Given the description of an element on the screen output the (x, y) to click on. 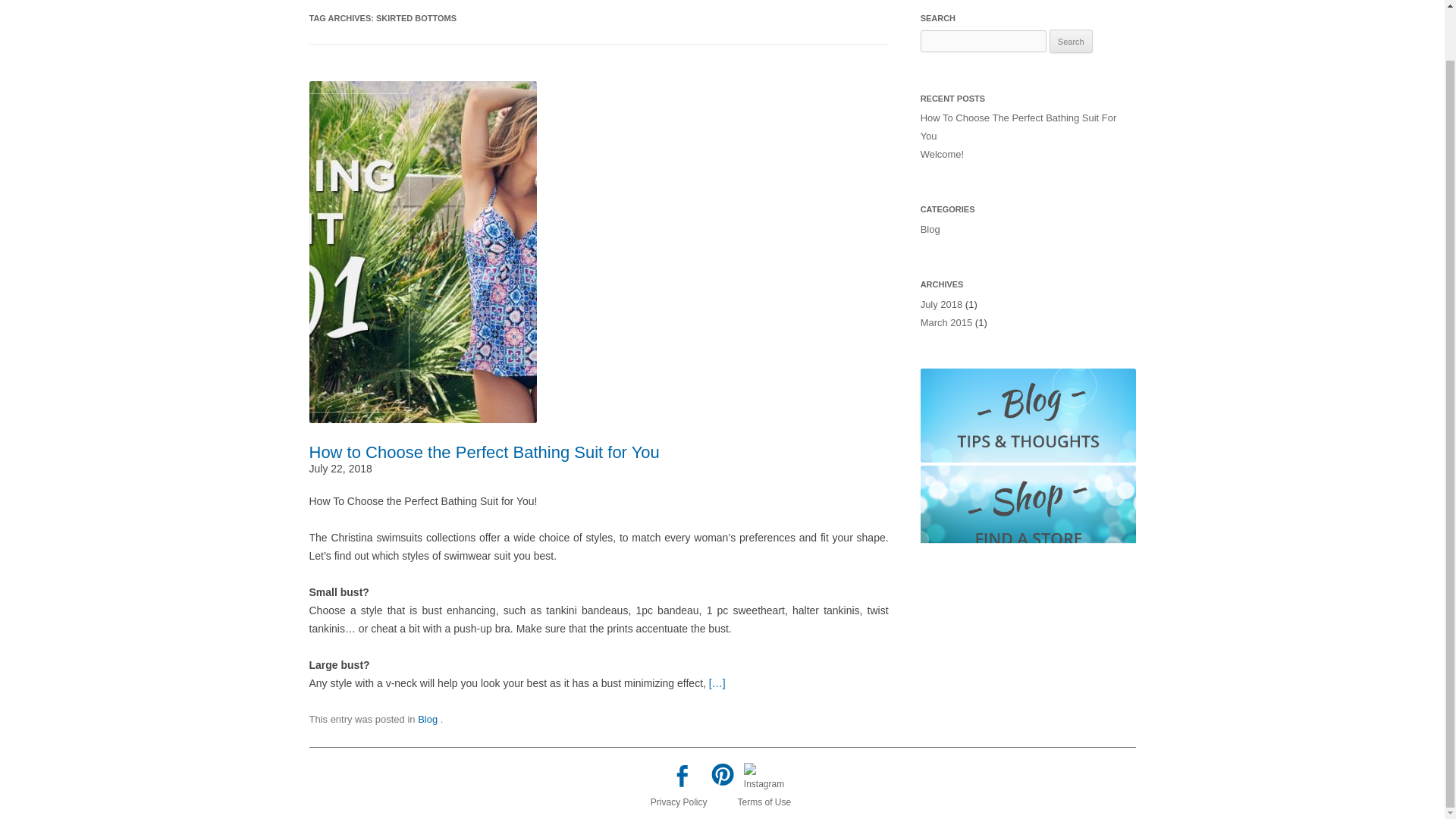
Store Locator (1027, 512)
FaceBook (681, 778)
Privacy Policy (678, 801)
Terms of Use (763, 801)
July 2018 (941, 304)
Pinterest (722, 777)
How To Choose The Perfect Bathing Suit For You (1018, 126)
Welcome! (941, 153)
Blog (427, 718)
Blog (930, 229)
How to Choose the Perfect Bathing Suit for You (483, 452)
Terms of Use (763, 801)
Search (1071, 41)
Privacy Policy (678, 801)
Search (1071, 41)
